Given the description of an element on the screen output the (x, y) to click on. 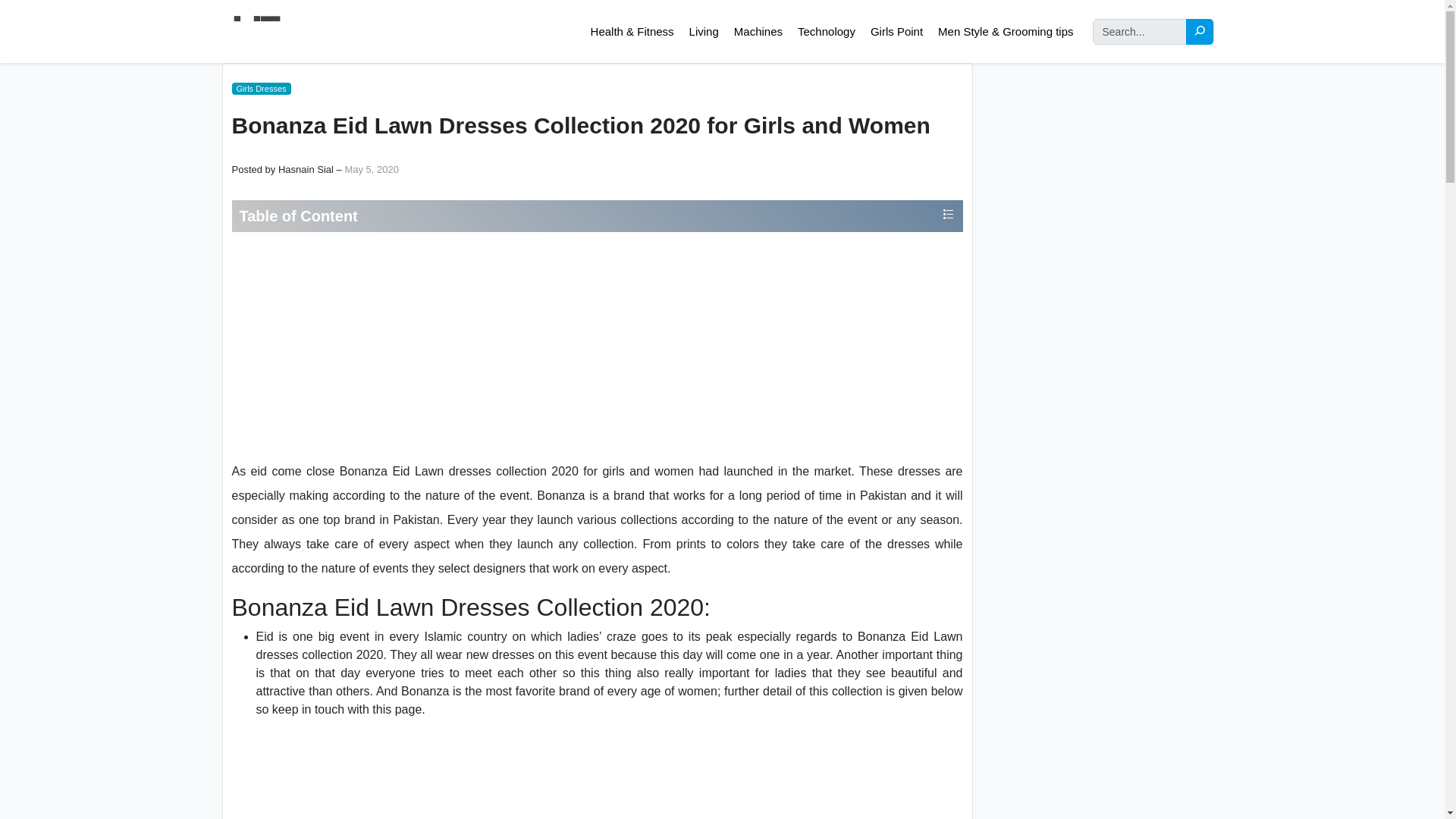
Girls Dresses (261, 88)
Technology (826, 31)
Advertisement (596, 345)
Girls Point (896, 31)
Machines (758, 31)
Living (703, 31)
